Given the description of an element on the screen output the (x, y) to click on. 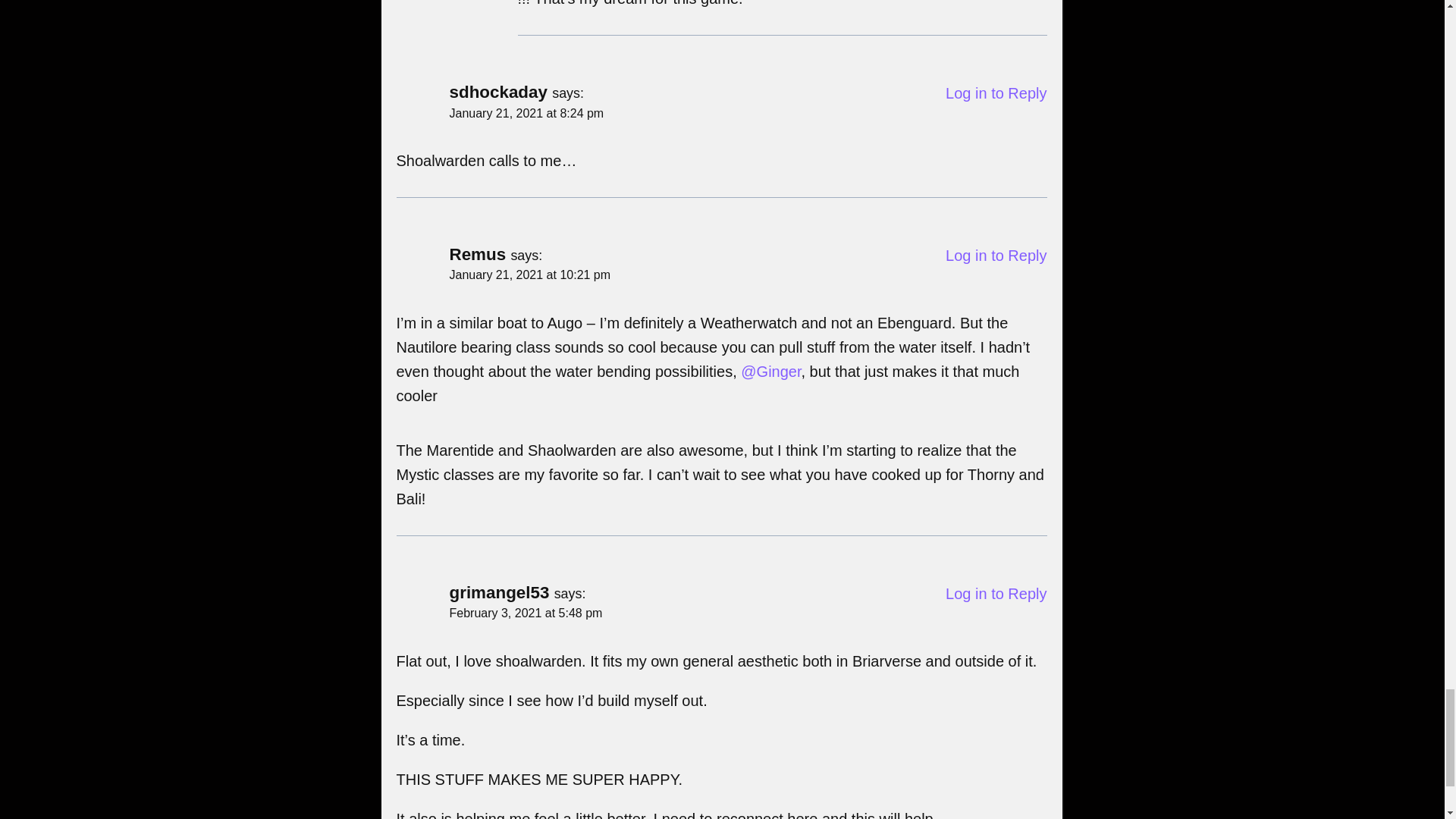
:joy: (403, 415)
